Given the description of an element on the screen output the (x, y) to click on. 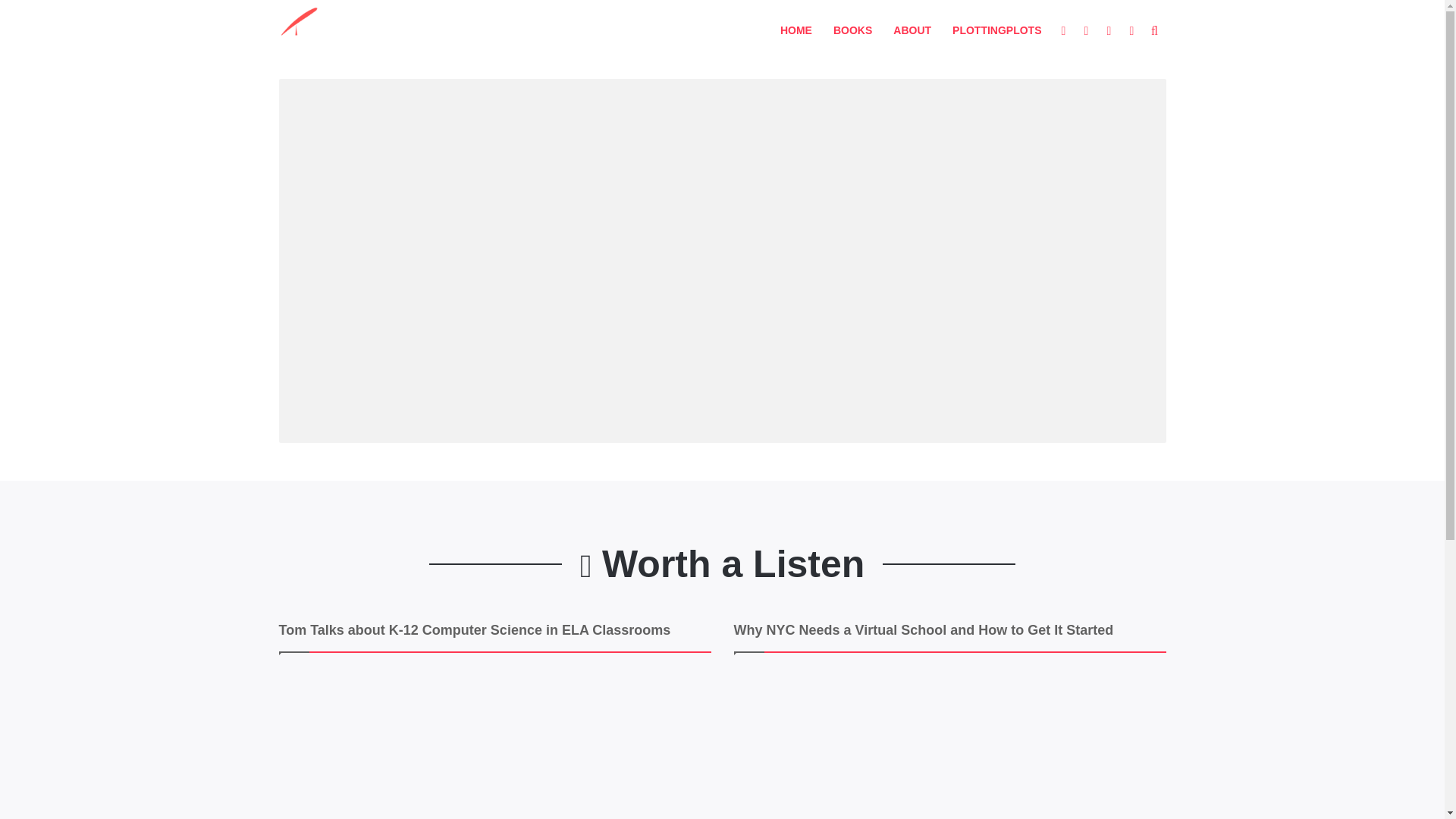
PLOTTINGPLOTS (996, 30)
Tom Liam Lynch, Ed.D. (329, 30)
HOME (796, 30)
BOOKS (852, 30)
ABOUT (912, 30)
